Given the description of an element on the screen output the (x, y) to click on. 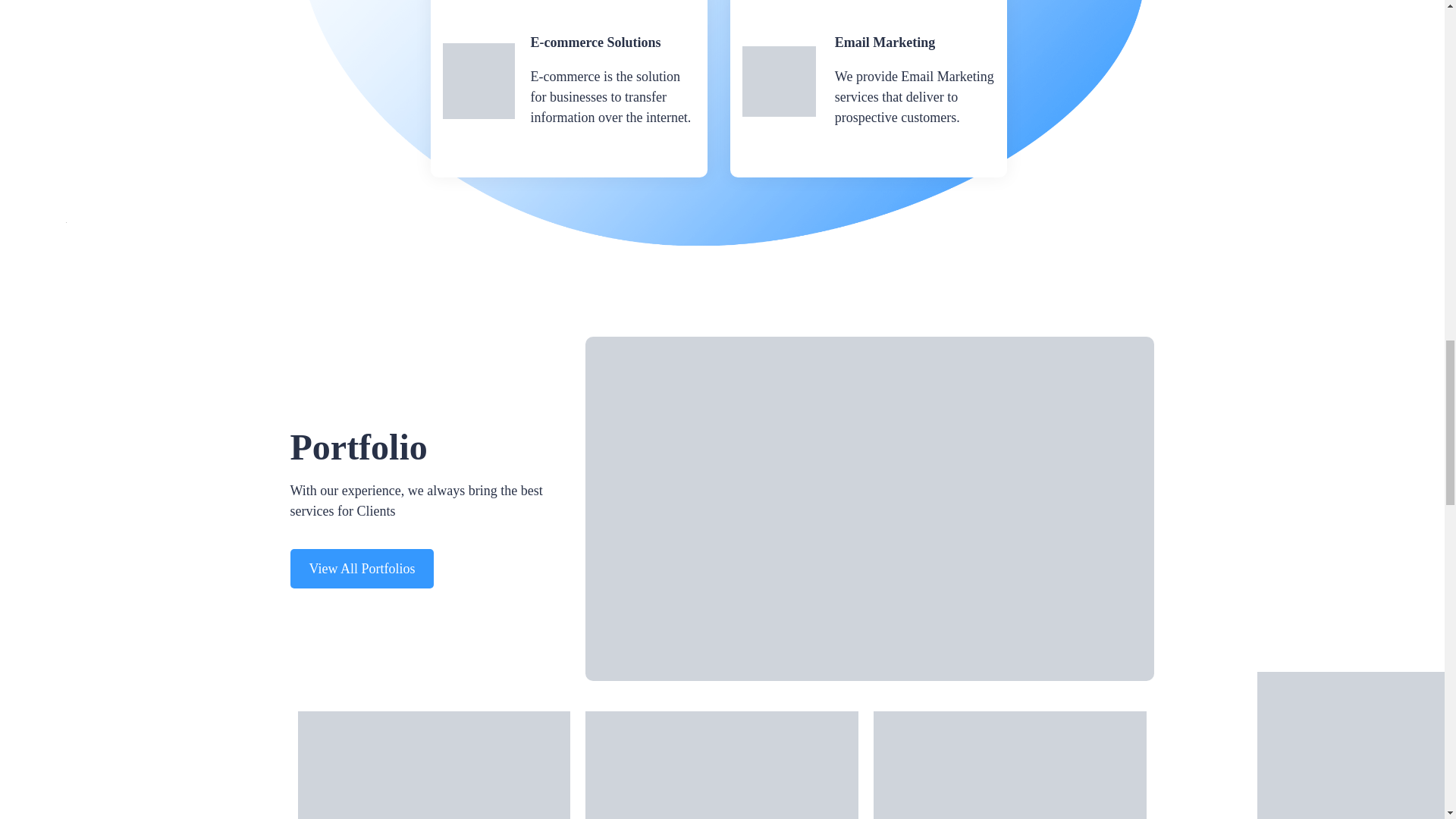
View All Portfolios (361, 568)
